Given the description of an element on the screen output the (x, y) to click on. 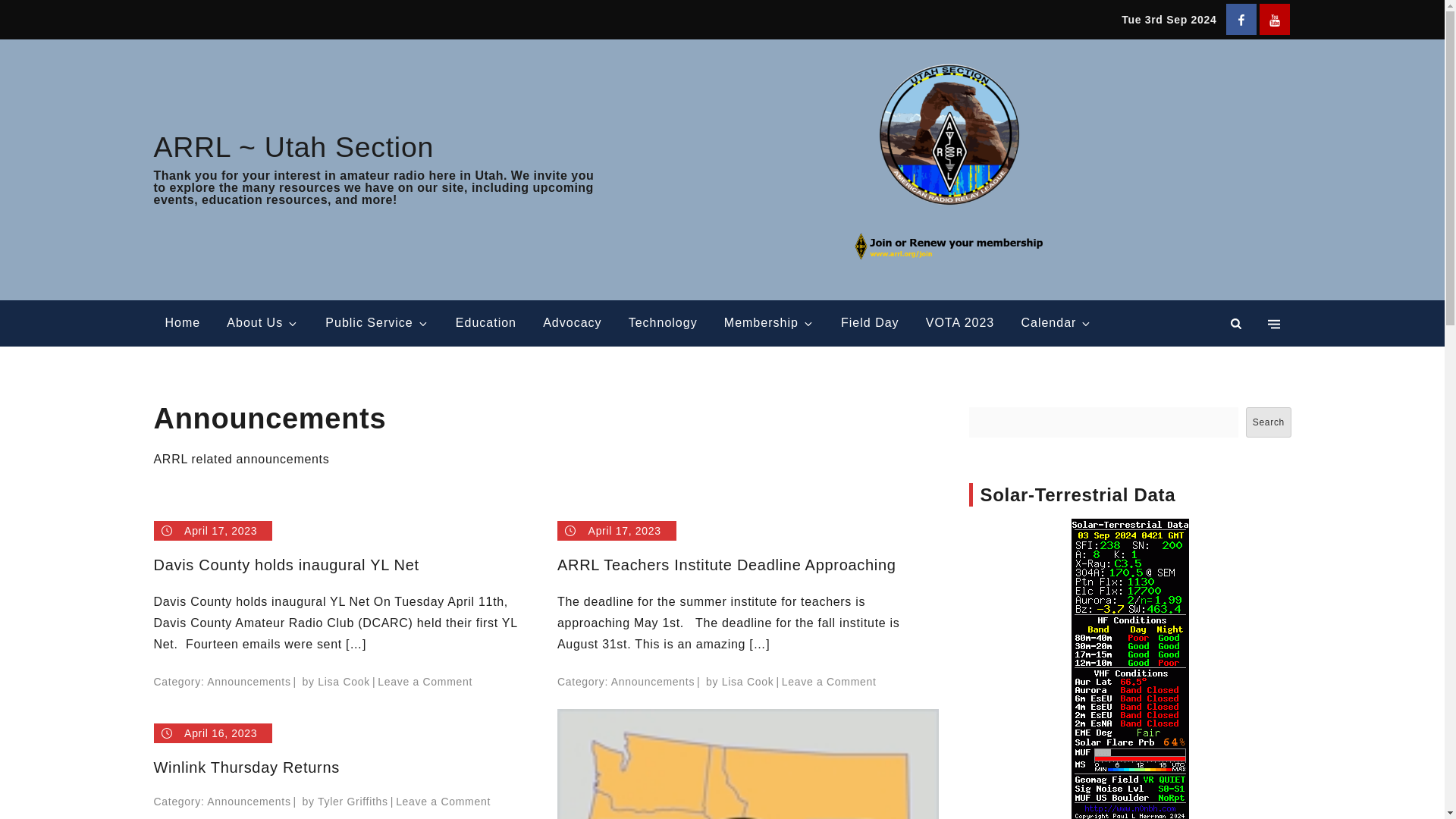
Membership (769, 323)
Technology (663, 323)
Calendar (1056, 323)
Davis County holds inaugural YL Net (343, 564)
Advocacy (571, 323)
Click to add Solar-Terrestrial Data to your website! (1129, 669)
Field Day (870, 323)
VOTA 2023 (960, 323)
Home (181, 323)
facebook (1240, 19)
